Given the description of an element on the screen output the (x, y) to click on. 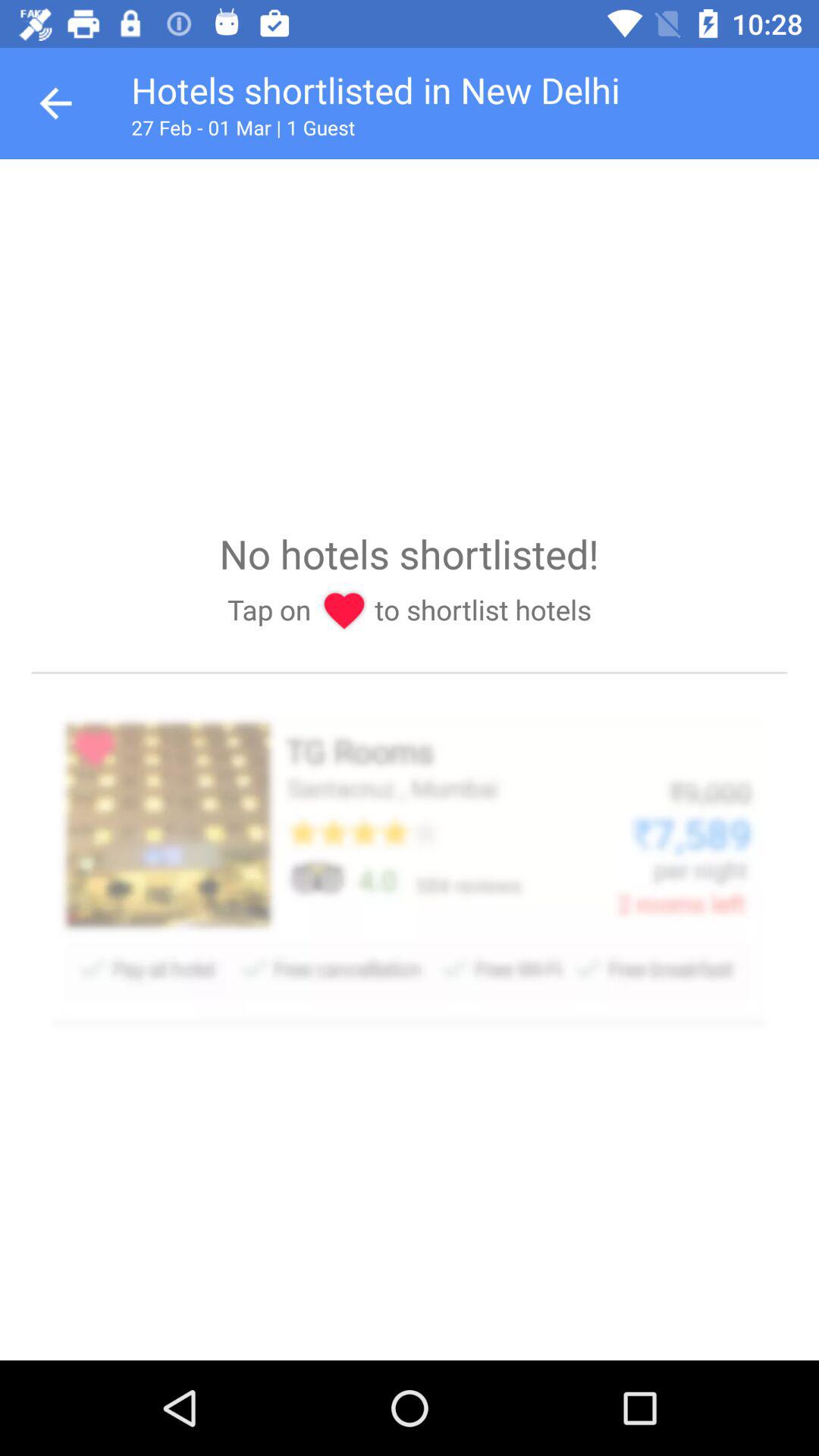
go back (55, 103)
